Given the description of an element on the screen output the (x, y) to click on. 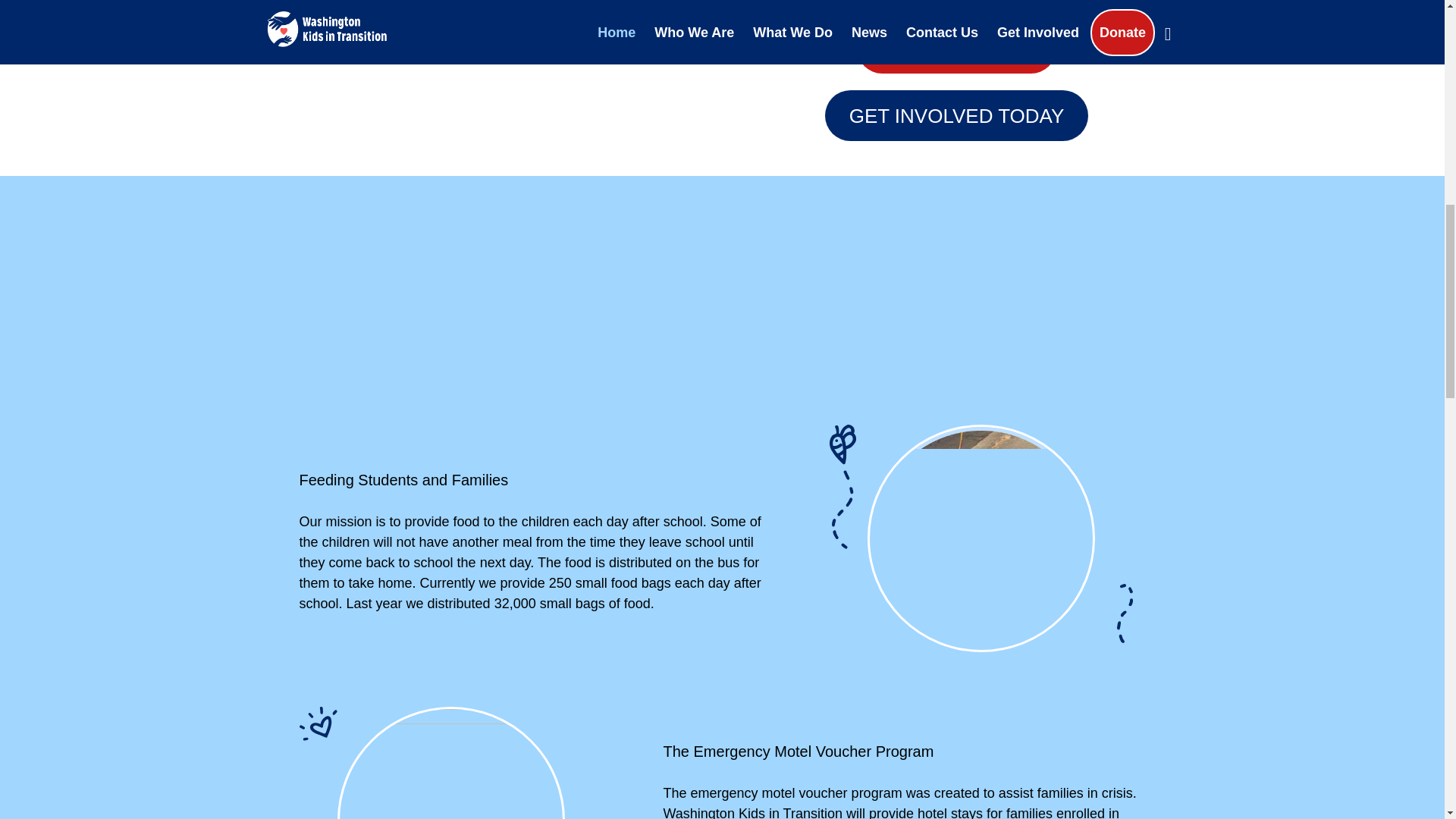
GET INVOLVED TODAY (956, 115)
DONATE TODAY (957, 48)
VISIT US ON FACEBOOK (956, 2)
